Given the description of an element on the screen output the (x, y) to click on. 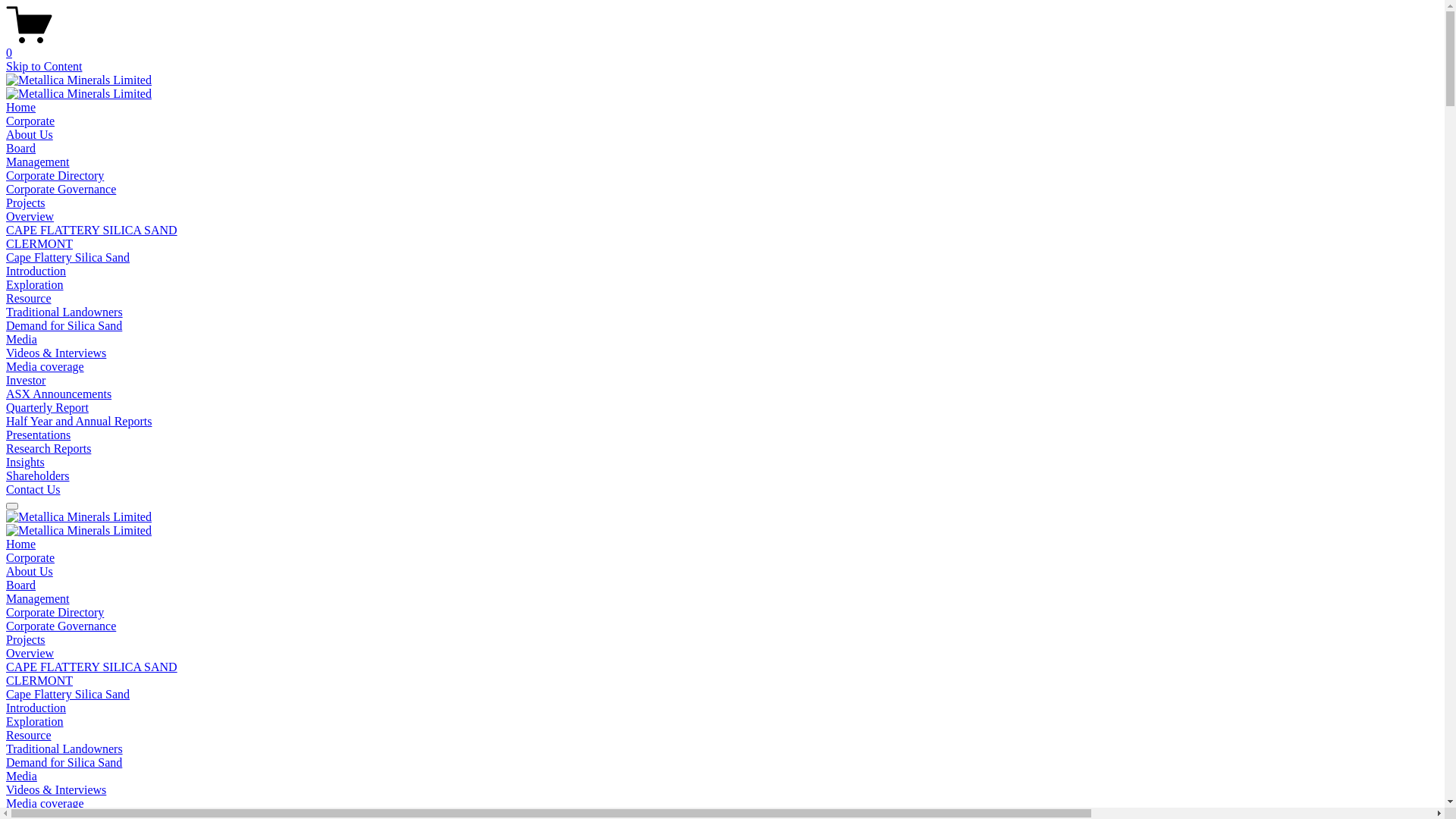
Corporate Directory Element type: text (54, 175)
Cape Flattery Silica Sand Element type: text (67, 693)
Exploration Element type: text (34, 284)
Demand for Silica Sand Element type: text (64, 325)
Half Year and Annual Reports Element type: text (78, 420)
Cape Flattery Silica Sand Element type: text (67, 257)
Corporate Governance Element type: text (61, 188)
Resource Element type: text (28, 297)
Traditional Landowners Element type: text (64, 748)
Investor Element type: text (25, 379)
Videos & Interviews Element type: text (56, 352)
Presentations Element type: text (38, 434)
Media coverage Element type: text (45, 366)
Introduction Element type: text (35, 270)
Overview Element type: text (29, 652)
CLERMONT Element type: text (39, 680)
Home Element type: text (20, 543)
Videos & Interviews Element type: text (56, 789)
Board Element type: text (20, 584)
Insights Element type: text (25, 461)
Corporate Directory Element type: text (54, 611)
Quarterly Report Element type: text (47, 407)
ASX Announcements Element type: text (58, 393)
Shareholders Element type: text (37, 475)
Management Element type: text (37, 161)
Contact Us Element type: text (33, 489)
Skip to Content Element type: text (43, 65)
Research Reports Element type: text (48, 448)
About Us Element type: text (29, 134)
Traditional Landowners Element type: text (64, 311)
CLERMONT Element type: text (39, 243)
Overview Element type: text (29, 216)
CAPE FLATTERY SILICA SAND Element type: text (91, 666)
Corporate Governance Element type: text (61, 625)
CAPE FLATTERY SILICA SAND Element type: text (91, 229)
Introduction Element type: text (35, 707)
Resource Element type: text (28, 734)
Media coverage Element type: text (45, 803)
0 Element type: text (722, 45)
Home Element type: text (20, 106)
Projects Element type: text (25, 639)
Media Element type: text (21, 775)
Corporate Element type: text (30, 557)
Exploration Element type: text (34, 721)
Corporate Element type: text (30, 120)
Board Element type: text (20, 147)
Media Element type: text (21, 338)
Projects Element type: text (25, 202)
Demand for Silica Sand Element type: text (64, 762)
About Us Element type: text (29, 570)
Management Element type: text (37, 598)
